Given the description of an element on the screen output the (x, y) to click on. 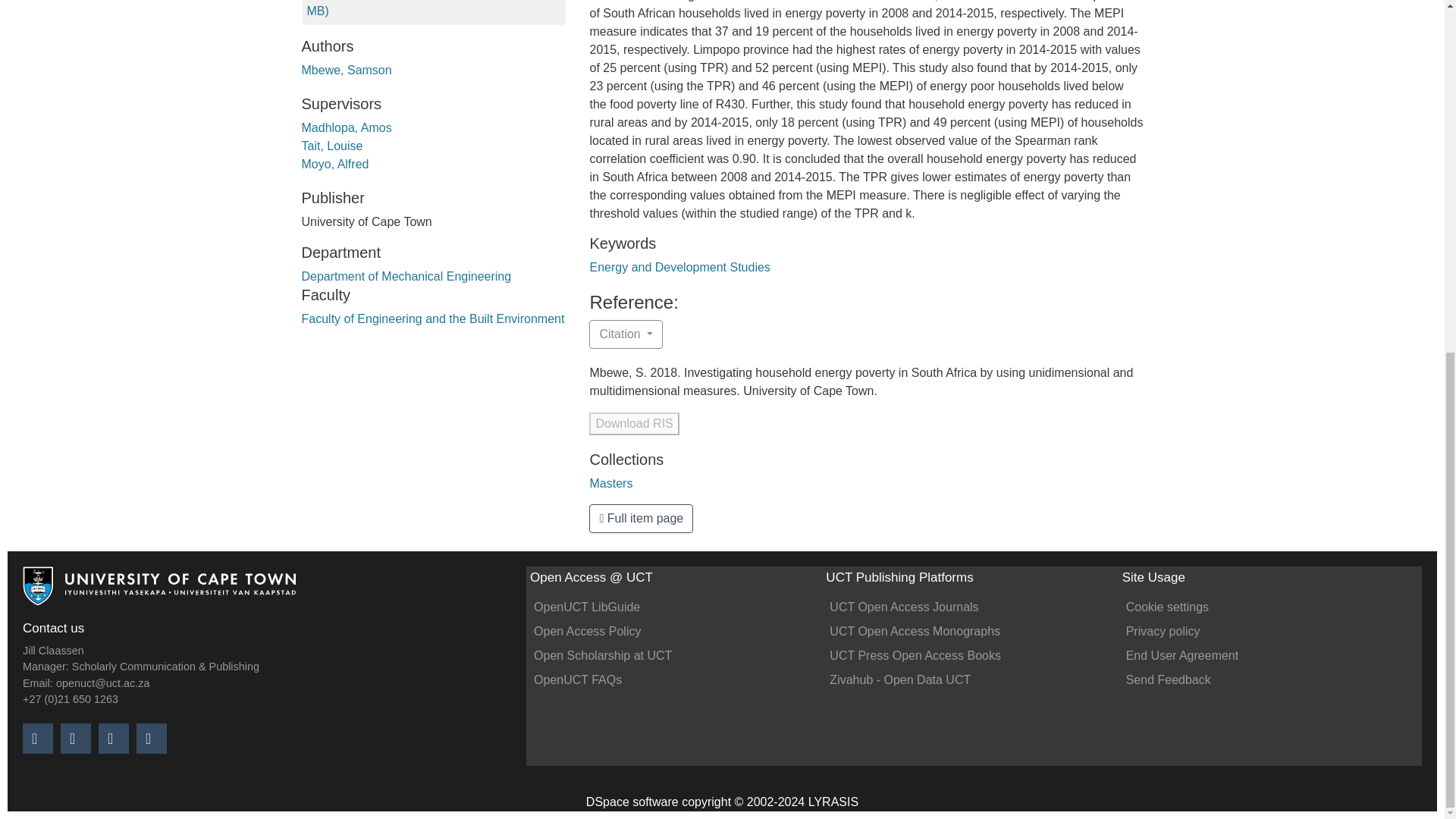
Energy and Development Studies (679, 267)
OpenUCT LibGuide (587, 606)
Tait, Louise (331, 145)
Home (159, 592)
Department of Mechanical Engineering (406, 276)
Citation (625, 334)
Download RIS (633, 423)
Moyo, Alfred (335, 164)
Full item page (641, 518)
Madhlopa, Amos (346, 127)
Masters (610, 482)
Faculty of Engineering and the Built Environment (432, 318)
Mbewe, Samson (346, 69)
Open Access Policy (587, 631)
